Given the description of an element on the screen output the (x, y) to click on. 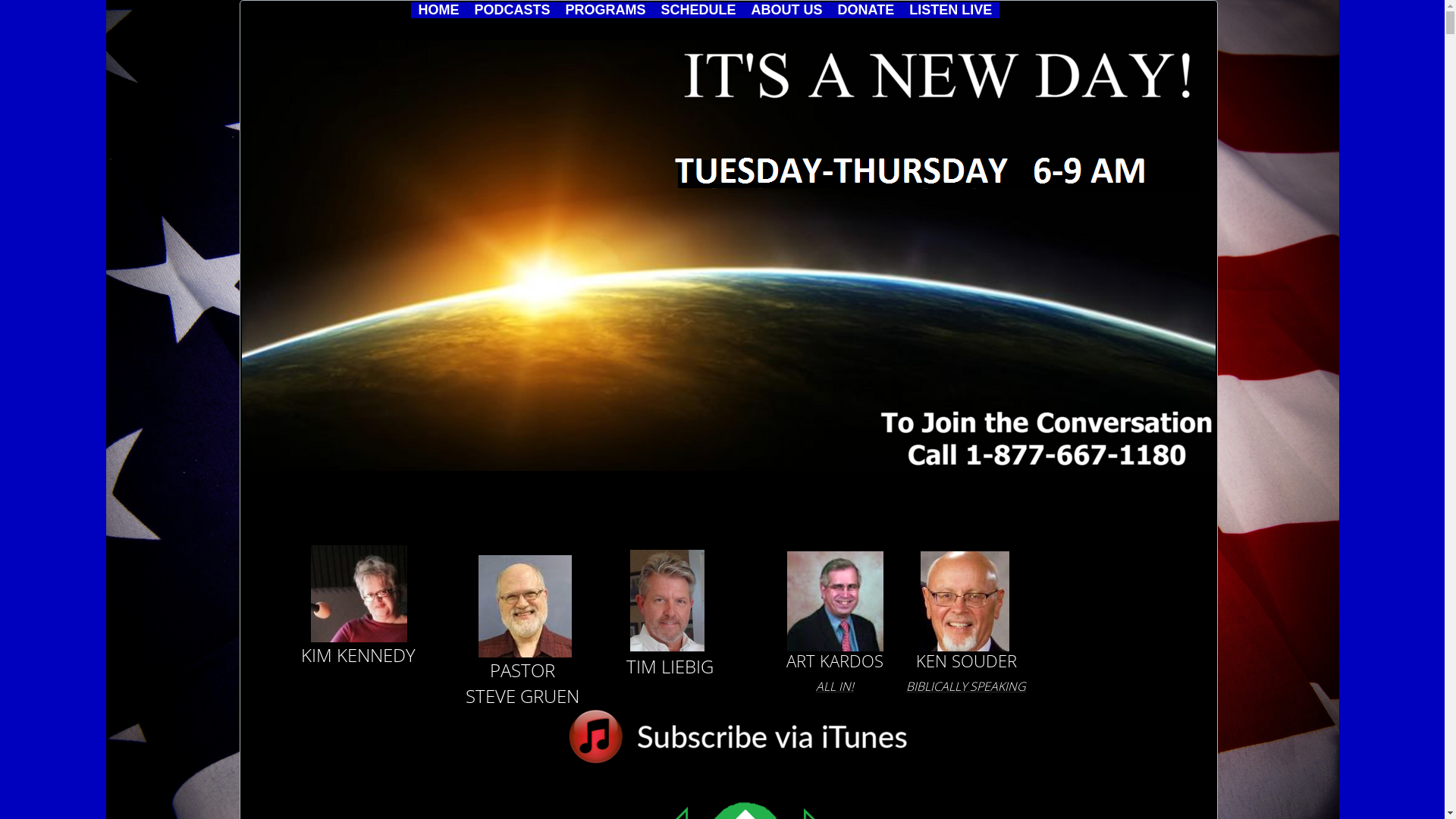
PODCASTS Element type: text (512, 9)
HOME Element type: text (439, 9)
SCHEDULE Element type: text (698, 9)
ABOUT US Element type: text (786, 9)
LISTEN LIVE Element type: text (950, 9)
PROGRAMS Element type: text (605, 9)
DONATE Element type: text (866, 9)
